Given the description of an element on the screen output the (x, y) to click on. 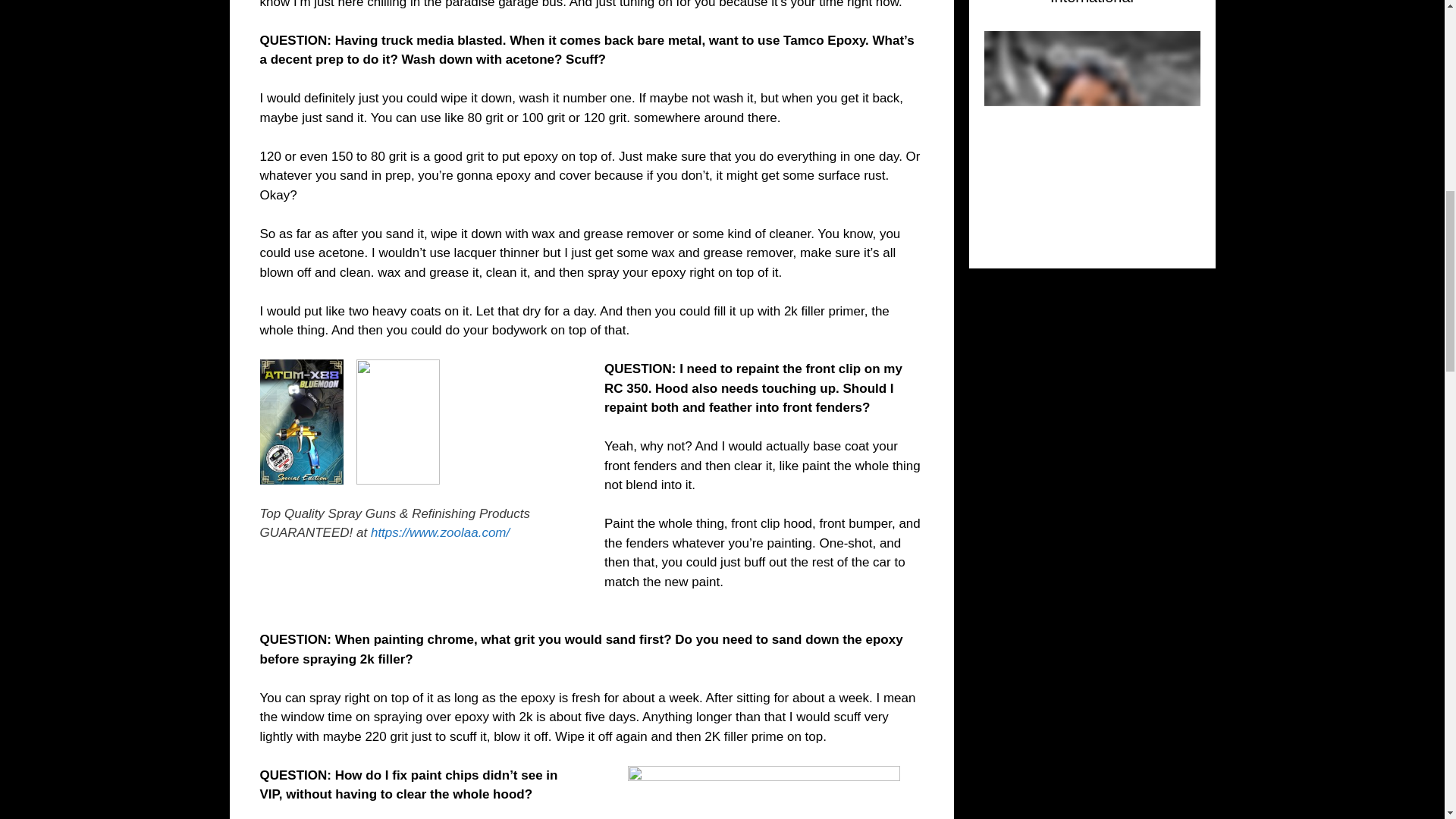
Scroll back to top (1406, 720)
